Given the description of an element on the screen output the (x, y) to click on. 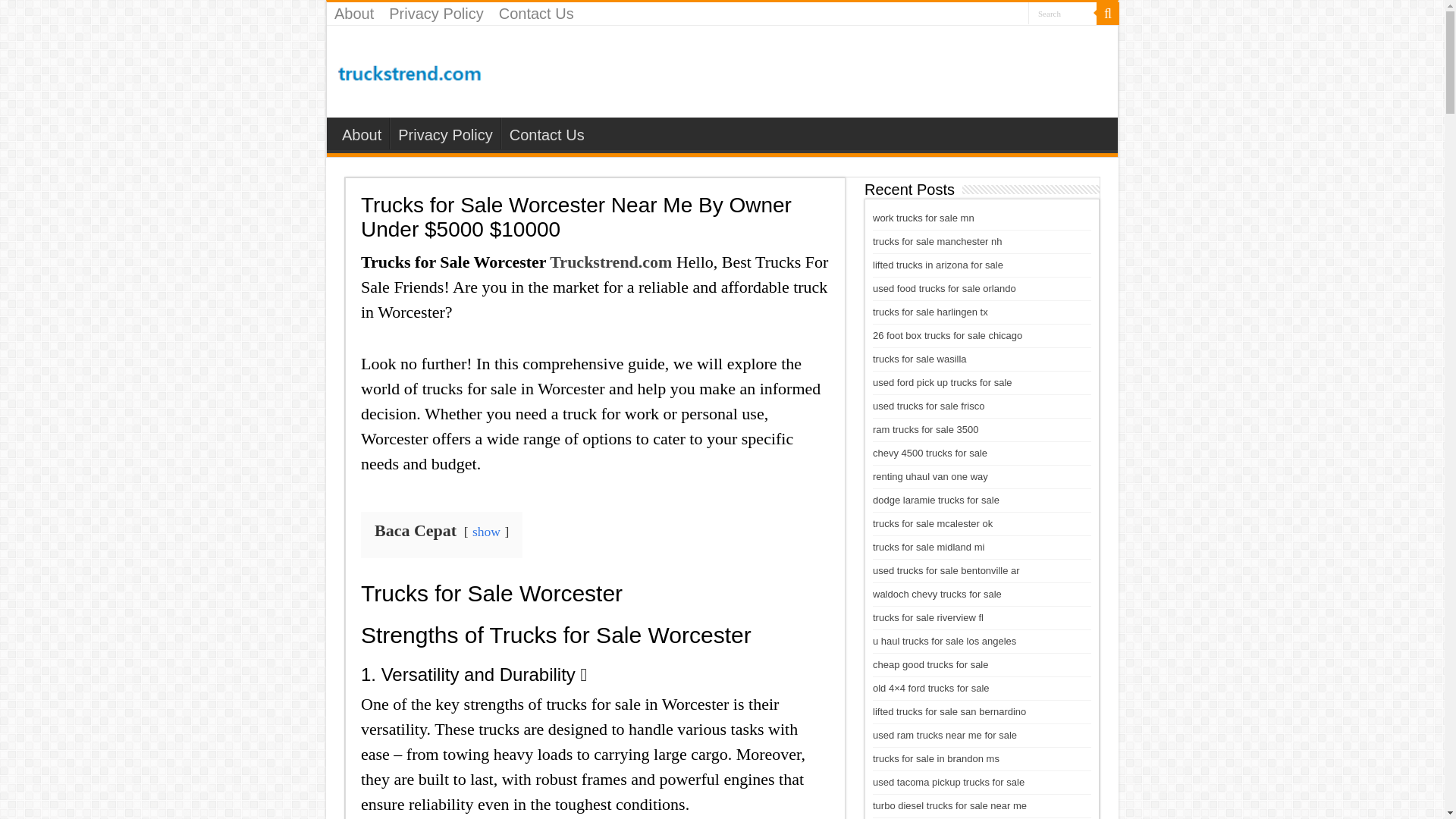
Search (1061, 13)
Search (1107, 13)
Privacy Policy (444, 133)
Contact Us (536, 13)
Privacy Policy (435, 13)
Search (1061, 13)
Truckstrend.com (610, 261)
truckstrend.com (409, 70)
About (353, 13)
Search (1061, 13)
show (485, 531)
About (361, 133)
Contact Us (546, 133)
